Given the description of an element on the screen output the (x, y) to click on. 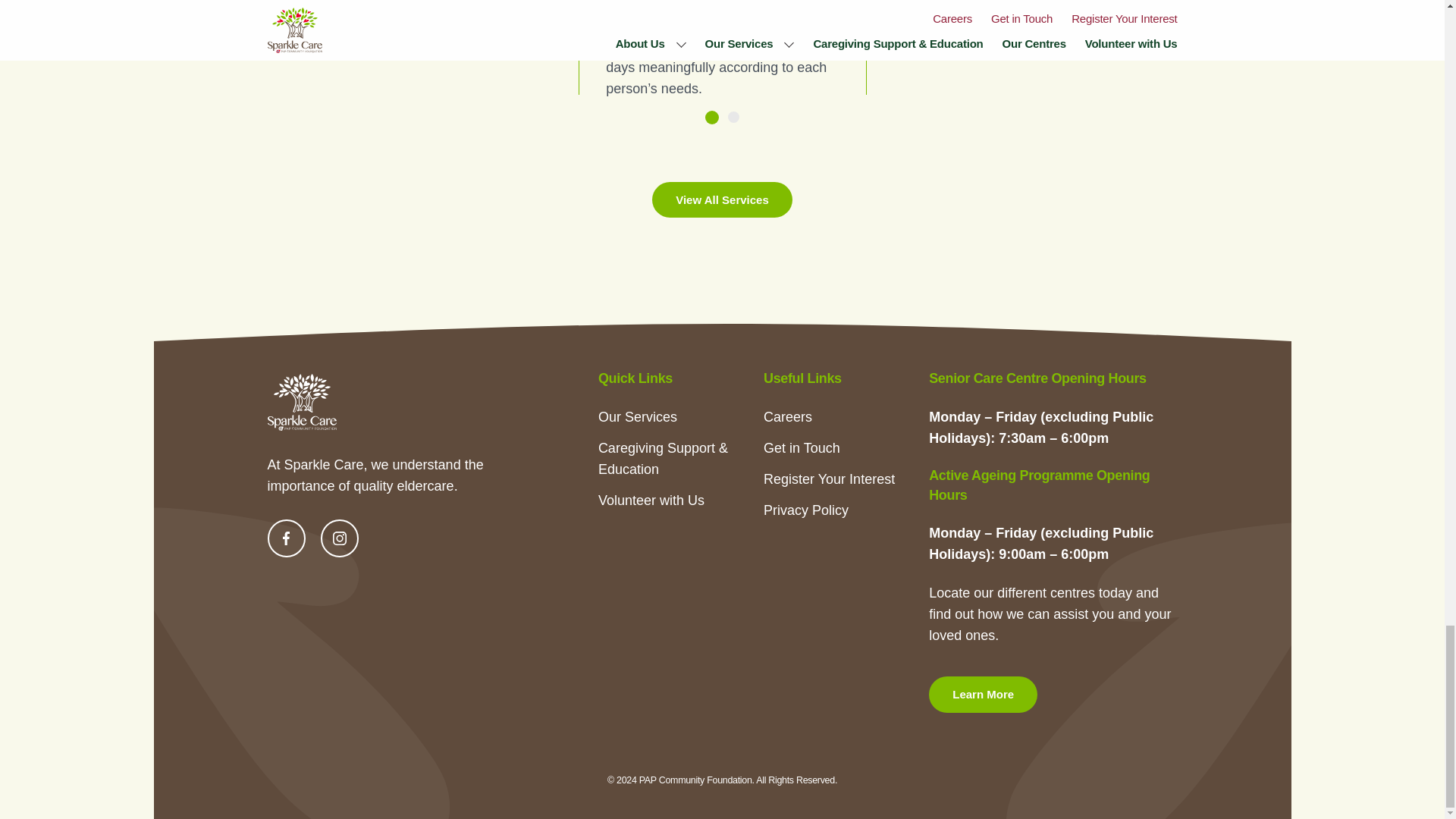
Careers (787, 417)
Get in Touch (801, 447)
Privacy Policy (805, 509)
Our Services (637, 417)
View All Services (722, 199)
Learn More (982, 693)
Register Your Interest (828, 478)
Volunteer with Us (651, 500)
